Given the description of an element on the screen output the (x, y) to click on. 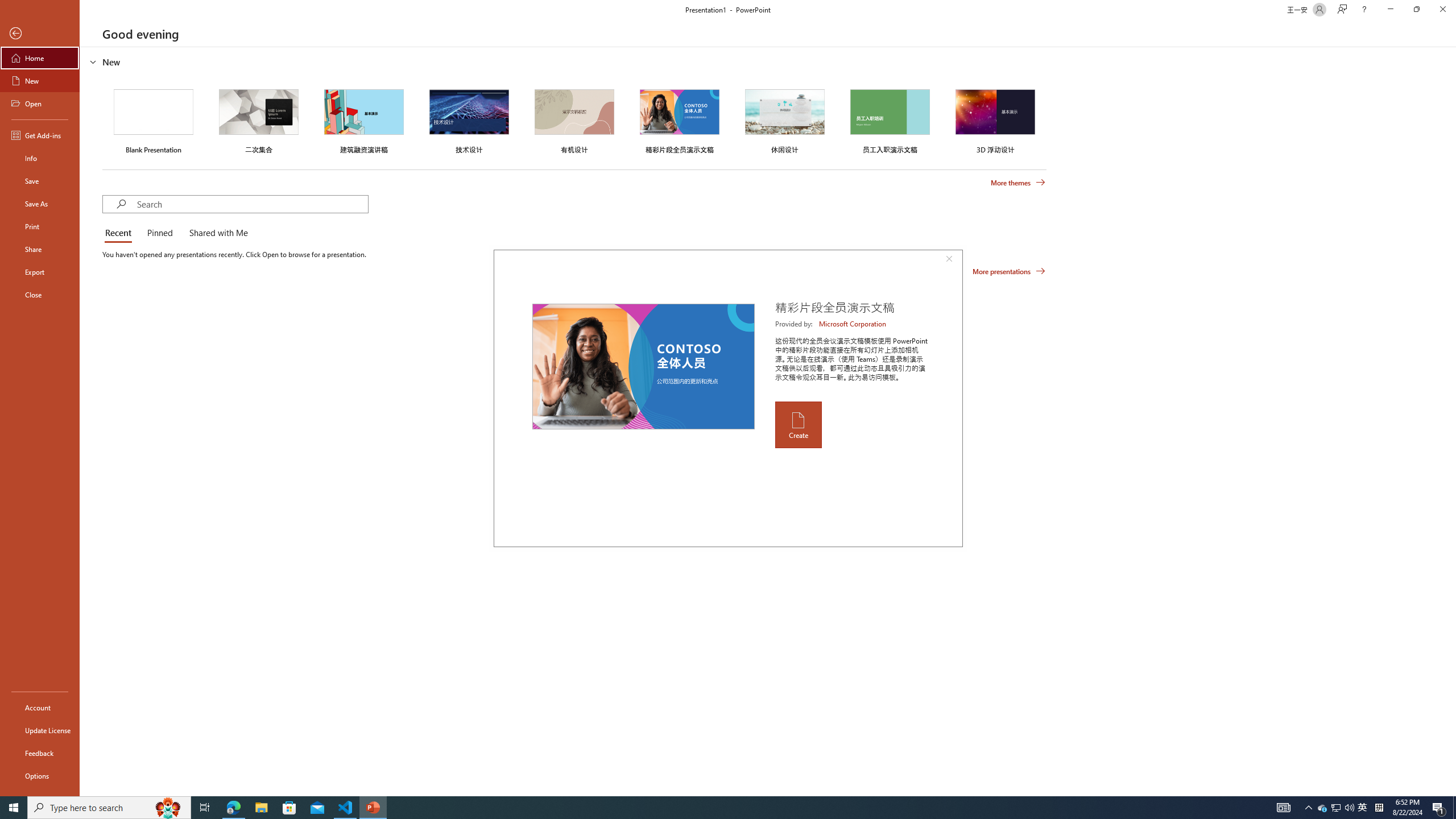
Feedback (40, 753)
More presentations (1008, 270)
New (40, 80)
Blank Presentation (153, 119)
Info (40, 157)
More themes (1018, 182)
